Given the description of an element on the screen output the (x, y) to click on. 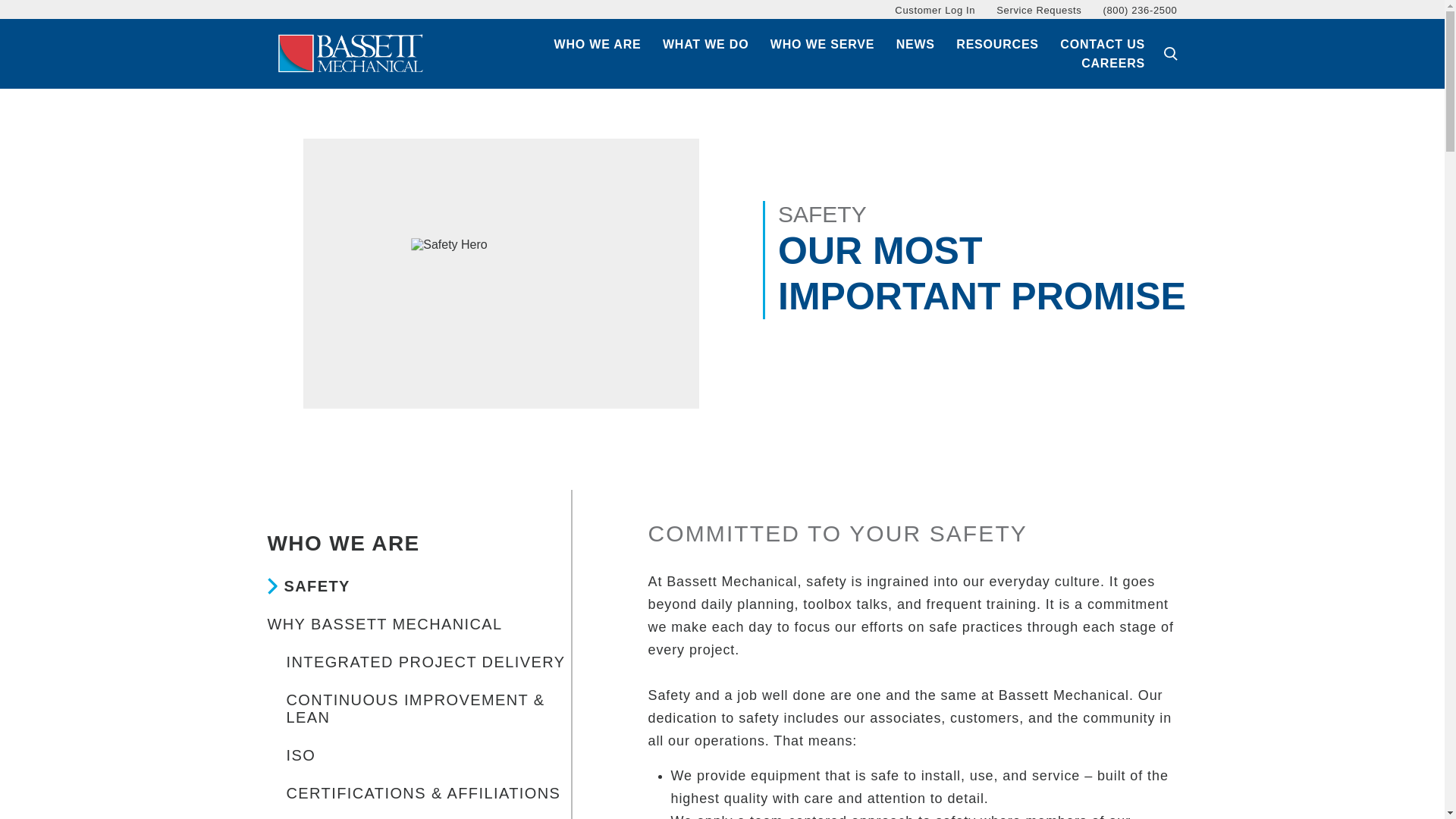
WHO WE ARE (598, 44)
Customer Log In (935, 9)
WHAT WE DO (705, 44)
Service Requests (1038, 9)
home (349, 53)
